Given the description of an element on the screen output the (x, y) to click on. 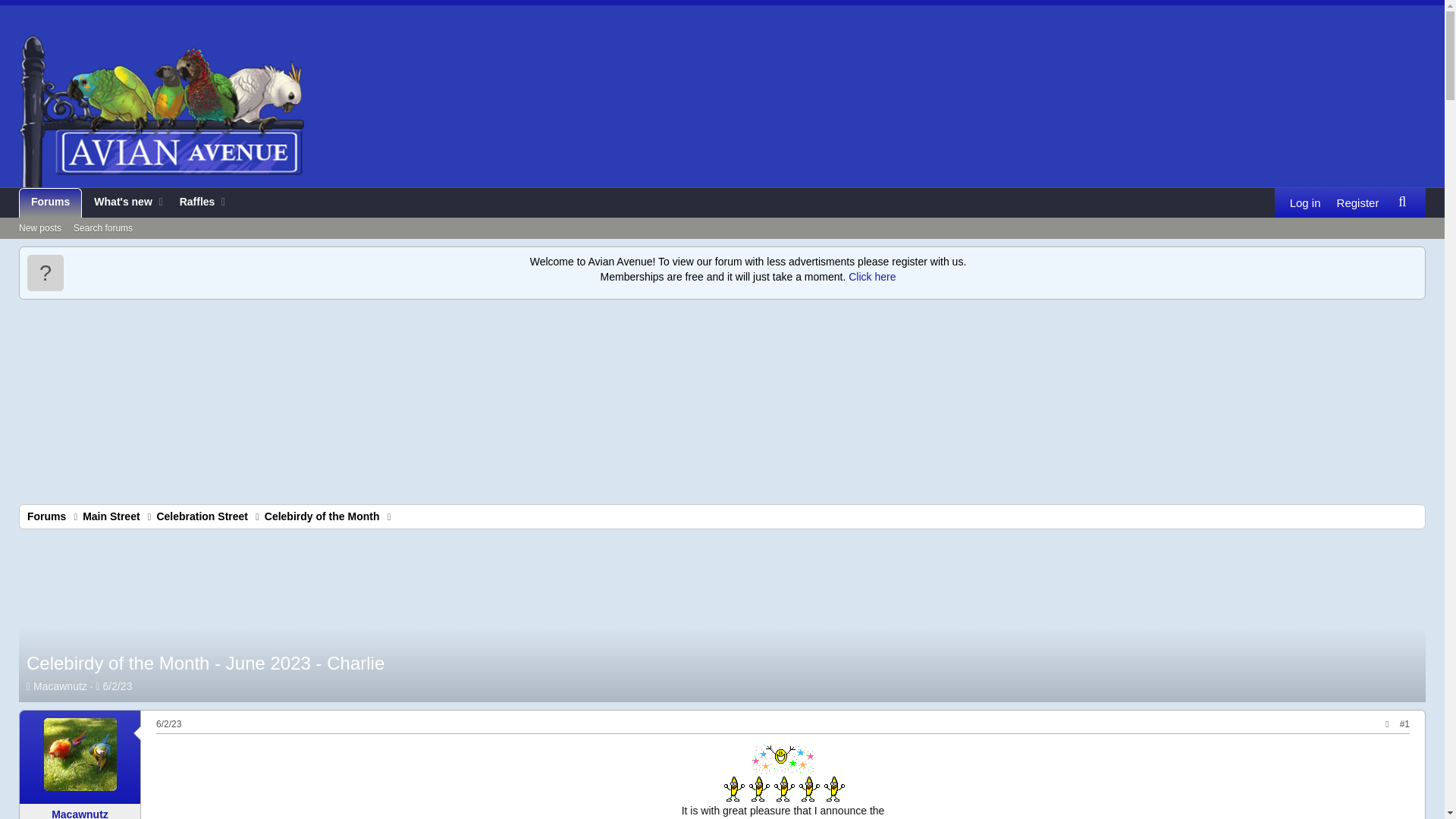
Dance4    :dance4: (782, 787)
Search forums (722, 228)
Forums (102, 228)
Raffles (124, 202)
Forums (46, 516)
Celebirdy of the Month (192, 203)
Click here (50, 203)
New posts (322, 516)
